Given the description of an element on the screen output the (x, y) to click on. 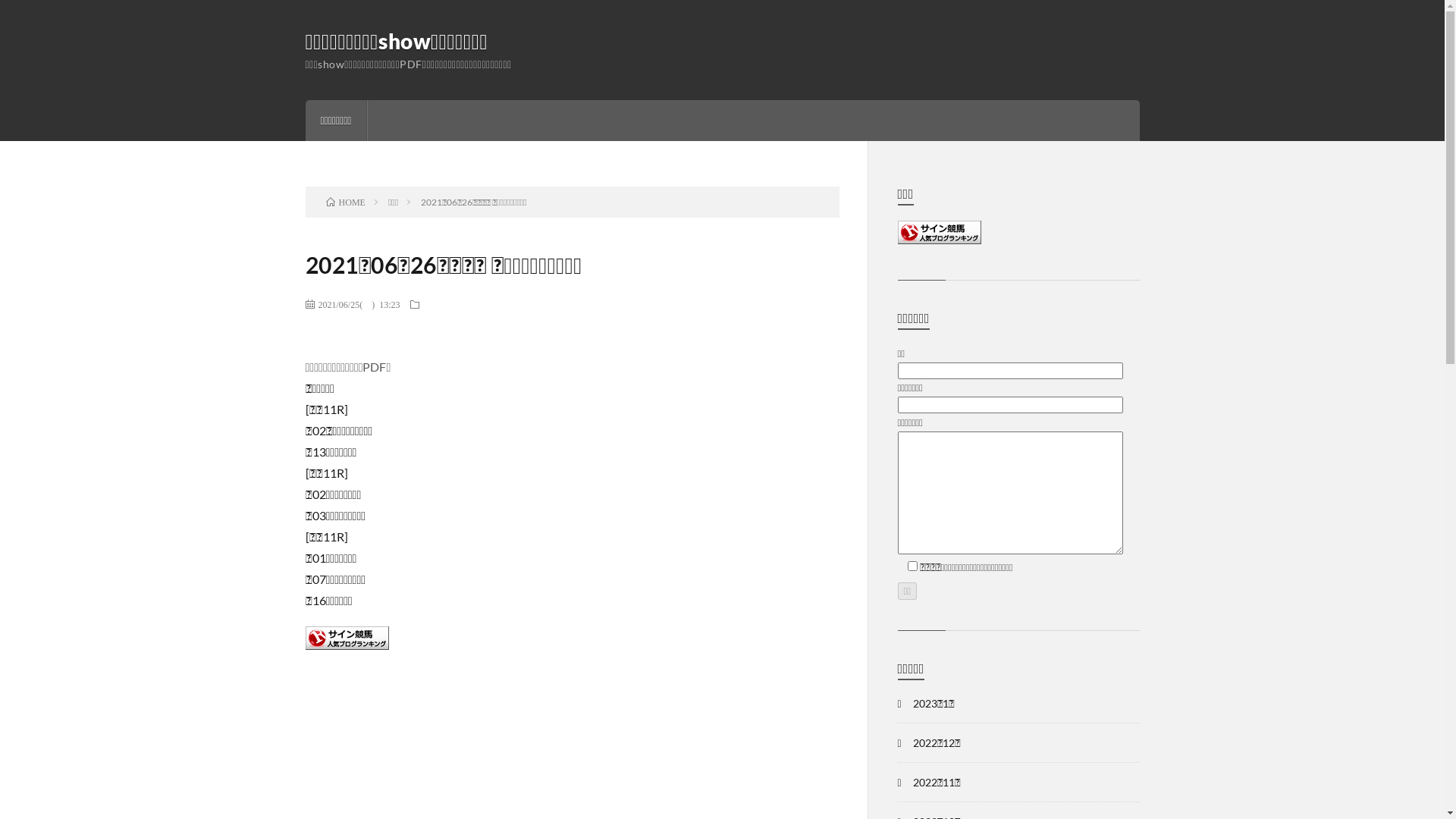
HOME Element type: text (345, 201)
